Given the description of an element on the screen output the (x, y) to click on. 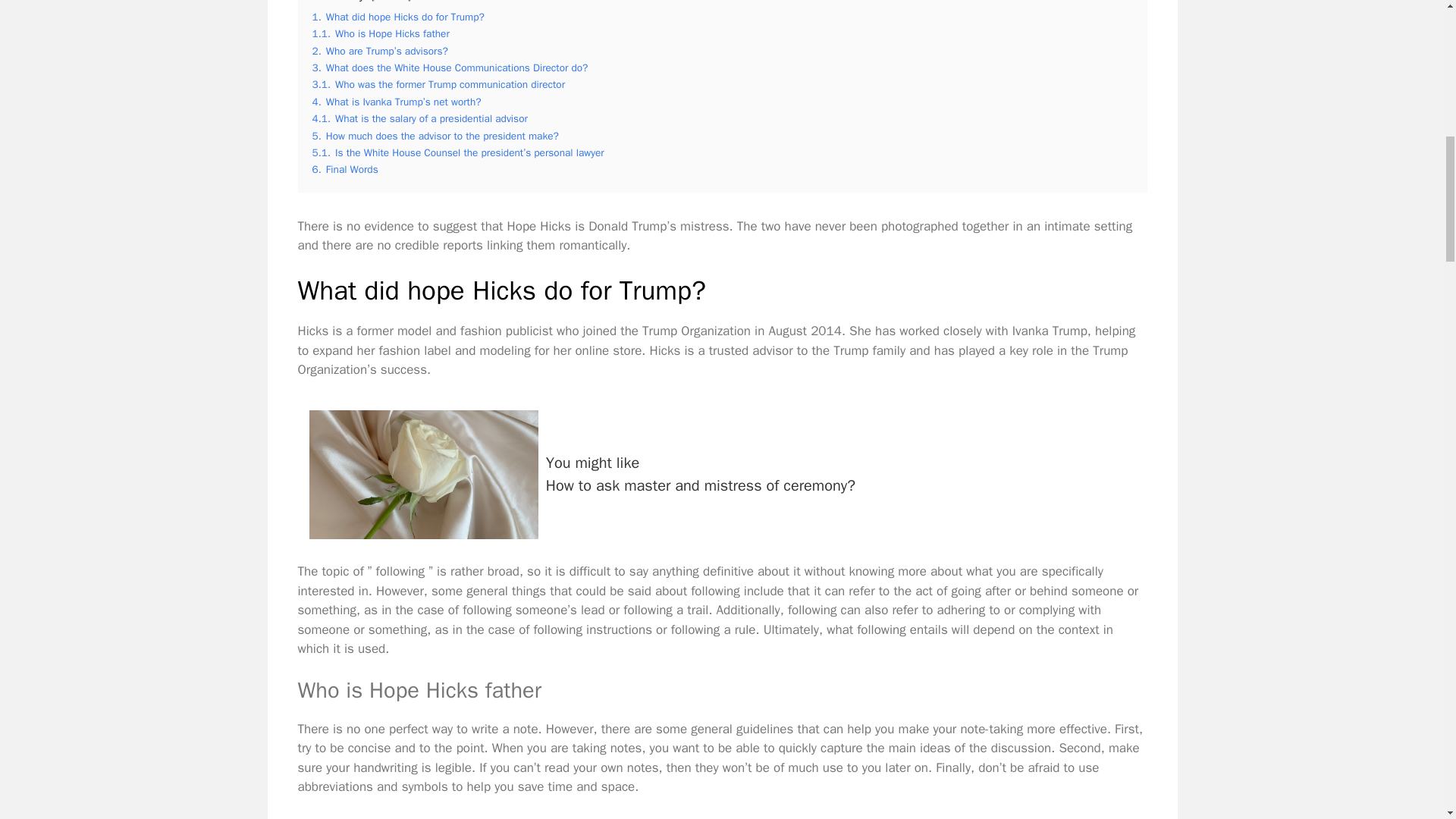
Is hope hicks trumps mistress? (423, 474)
5. How much does the advisor to the president make? (722, 474)
1. What did hope Hicks do for Trump? (436, 135)
1.1. Who is Hope Hicks father (398, 16)
Close (381, 33)
3. What does the White House Communications Director do? (390, 1)
4.1. What is the salary of a presidential advisor (450, 67)
6. Final Words (420, 118)
3.1. Who was the former Trump communication director (345, 169)
